Given the description of an element on the screen output the (x, y) to click on. 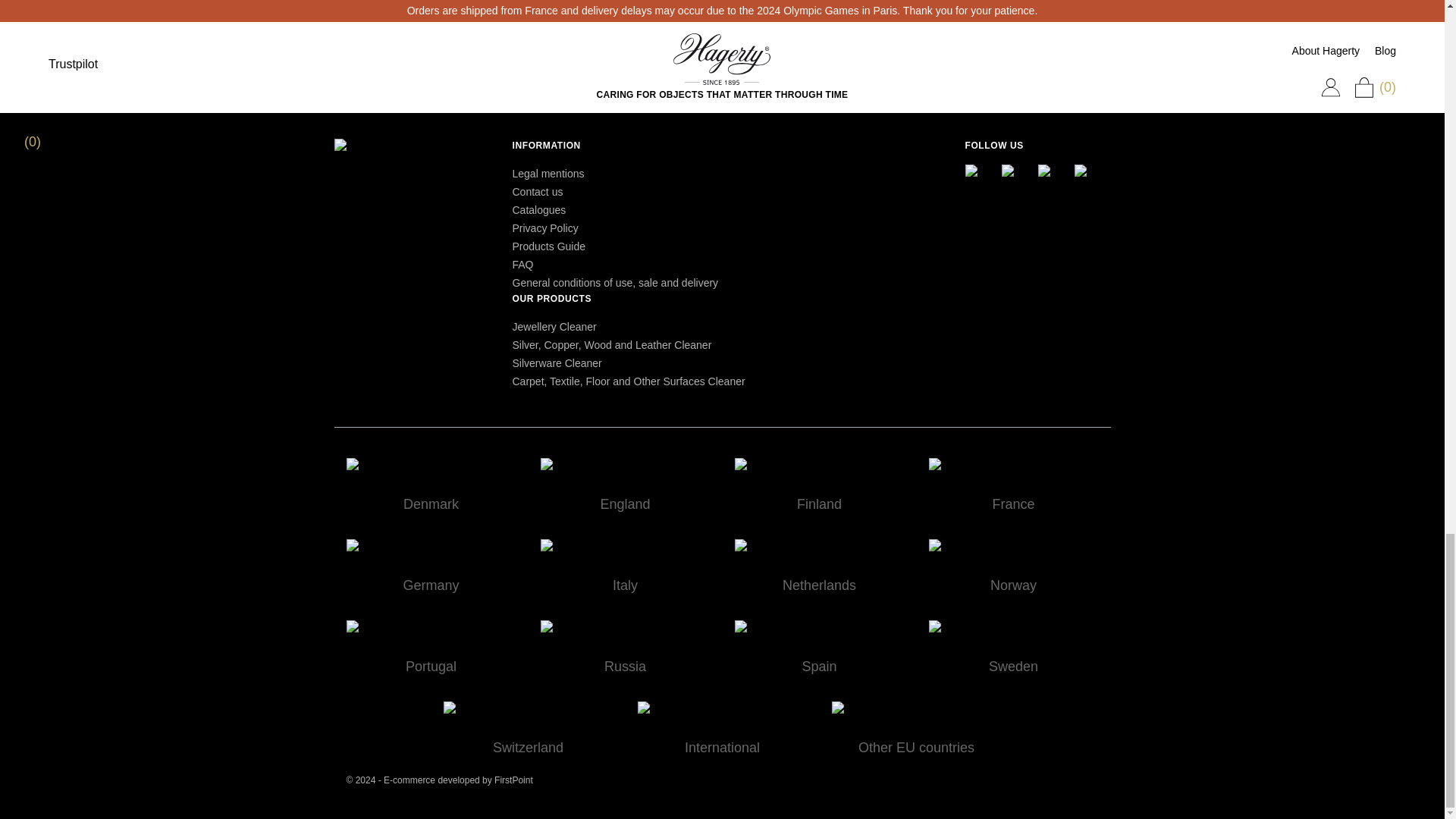
Catalogues (539, 209)
Contact us (537, 191)
Find out more about the Hagerty product ranges. (539, 209)
Legal mentions (548, 173)
Products Guide (549, 246)
Jewellery Cleaner (554, 326)
Legal mentions (548, 173)
Trustpilot (357, 68)
FAQ (523, 264)
Privacy Policy (545, 227)
General conditions of use, sale and delivery (615, 282)
